Given the description of an element on the screen output the (x, y) to click on. 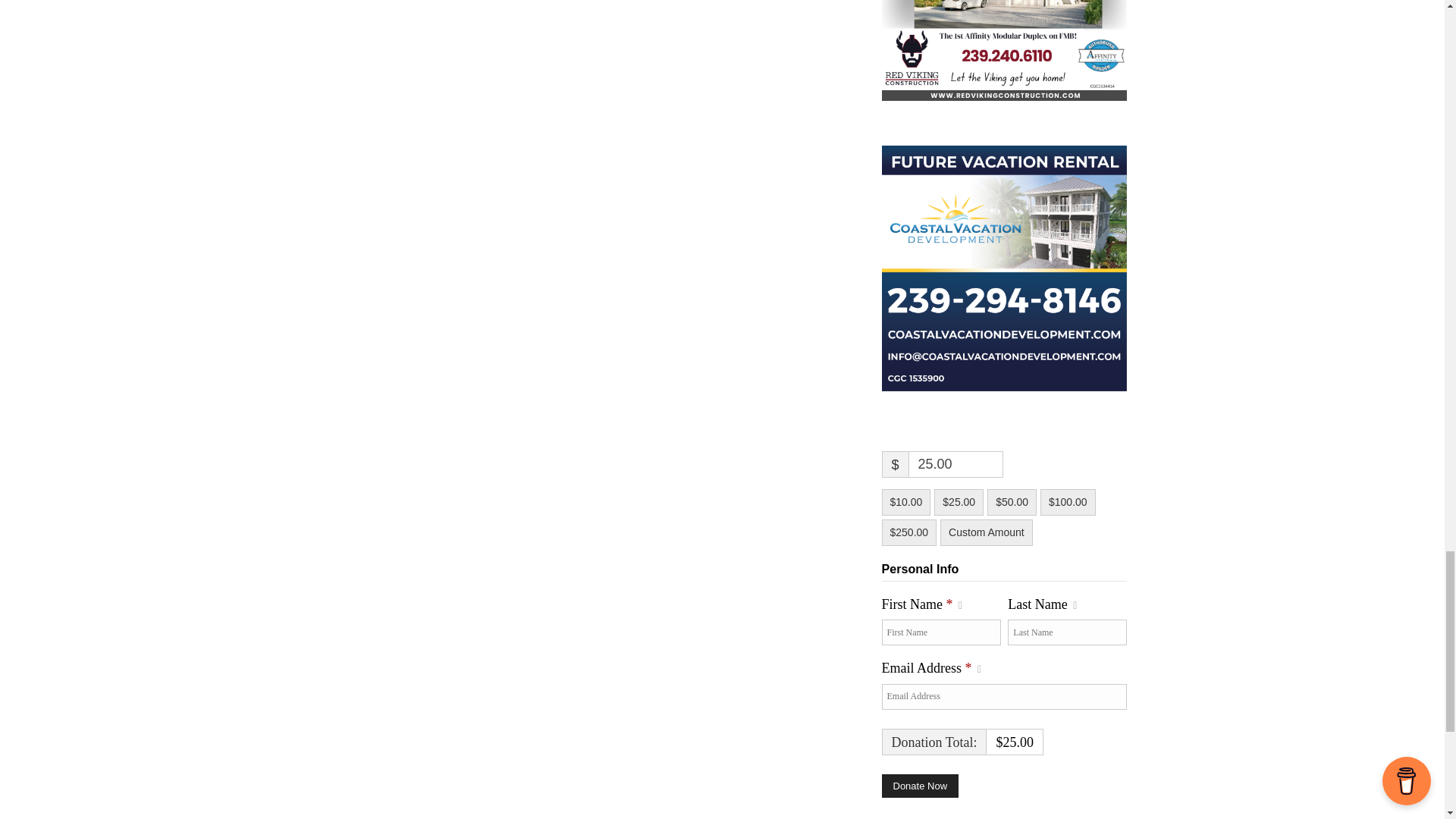
Donate Now (919, 785)
25.00 (955, 464)
